Given the description of an element on the screen output the (x, y) to click on. 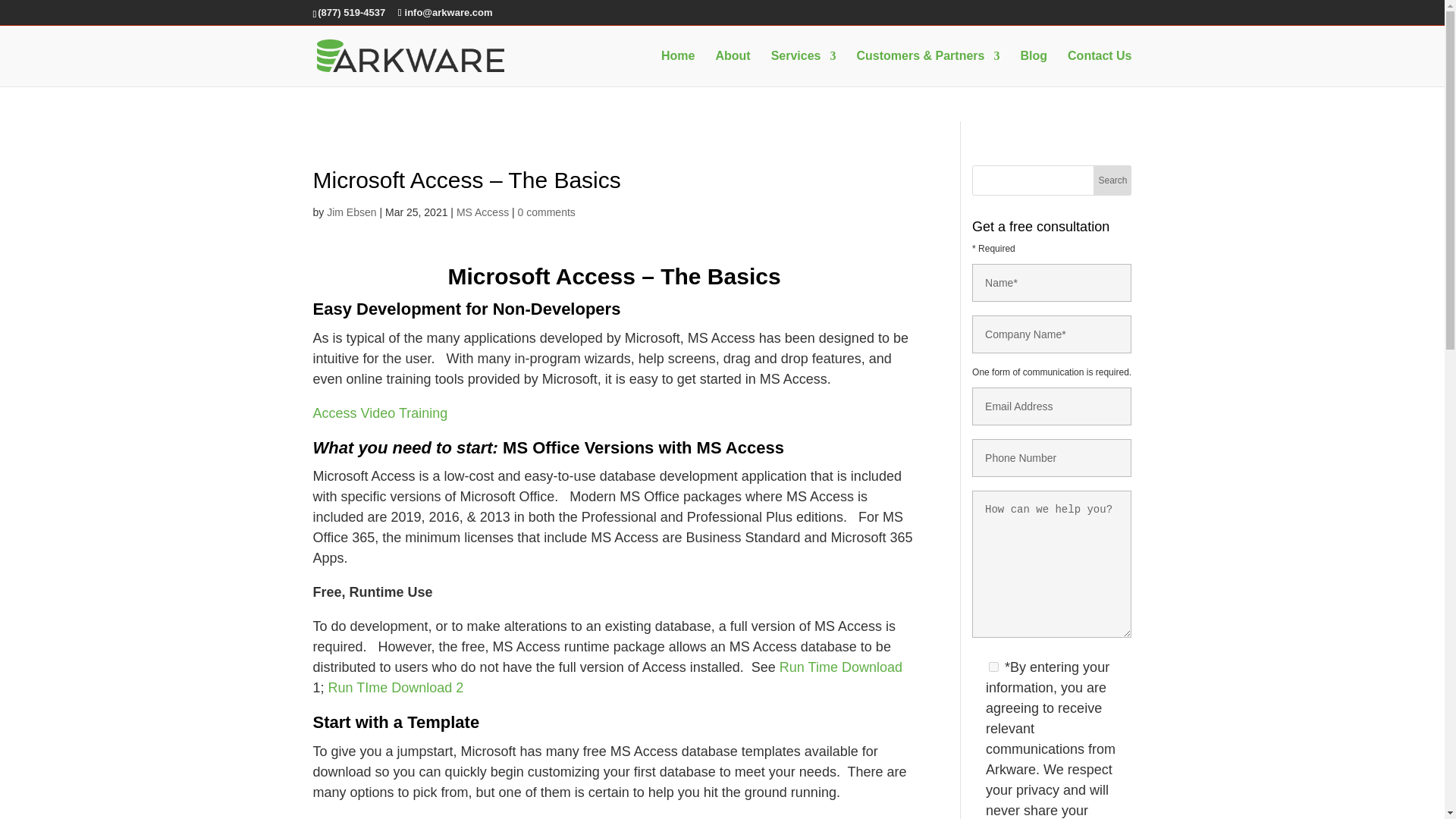
About (731, 67)
Services (803, 67)
Jim Ebsen (350, 212)
Contact Us (1099, 67)
MS Access (482, 212)
Learn More (1133, 17)
Home (677, 67)
Posts by Jim Ebsen (350, 212)
Search (1112, 180)
